Given the description of an element on the screen output the (x, y) to click on. 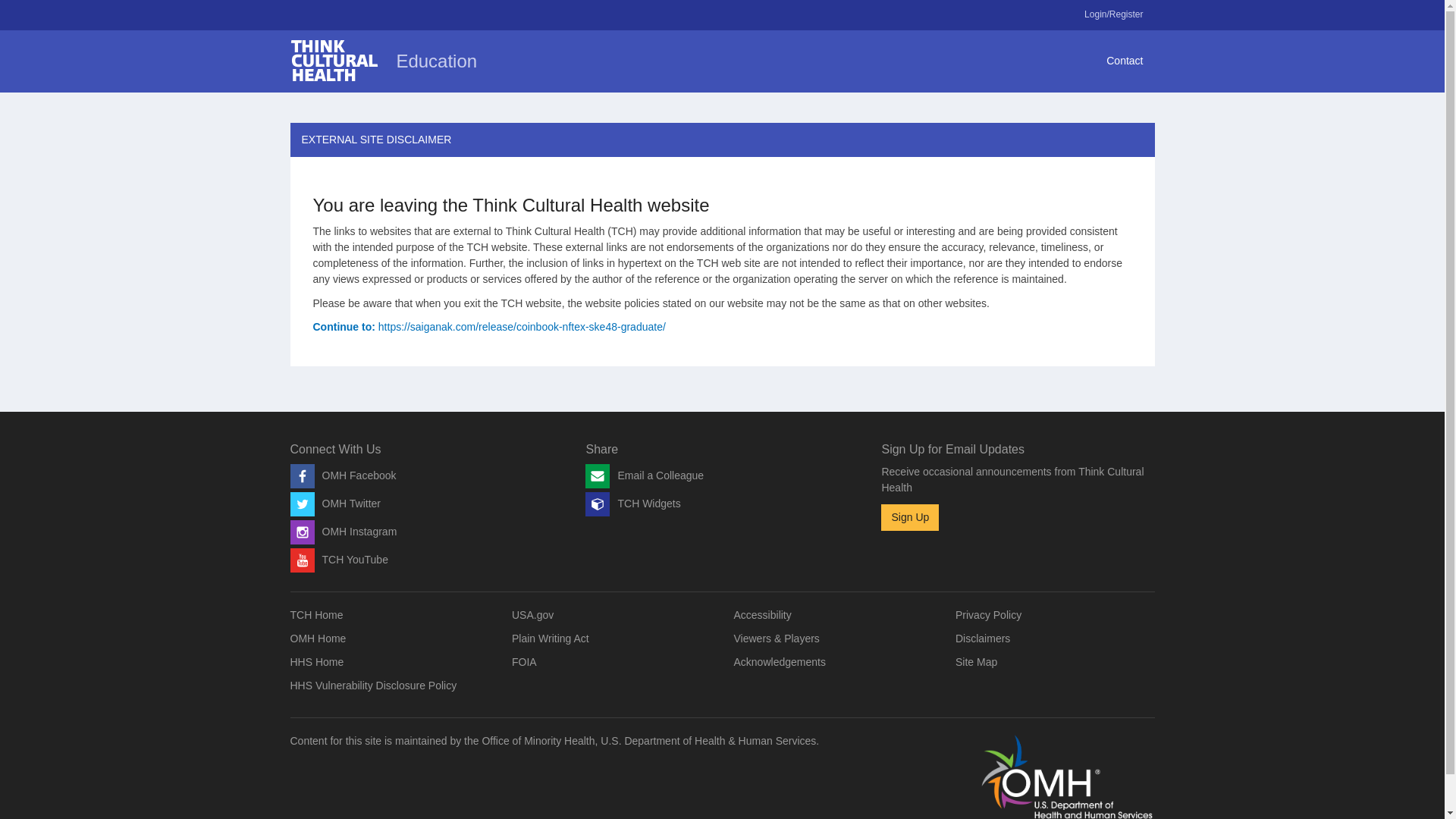
Contact (1124, 61)
TCH Home (315, 614)
USA.gov (532, 614)
FOIA (524, 662)
OMH Twitter (334, 503)
Think Cultural Health (333, 60)
Plain Writing Act (550, 638)
Privacy Policy (988, 614)
OMH Home (317, 638)
Site Map (976, 662)
HHS Home (316, 662)
Email a Colleague (644, 475)
Acknowledgements (779, 662)
Disclaimers (982, 638)
TCH Widgets (632, 503)
